Given the description of an element on the screen output the (x, y) to click on. 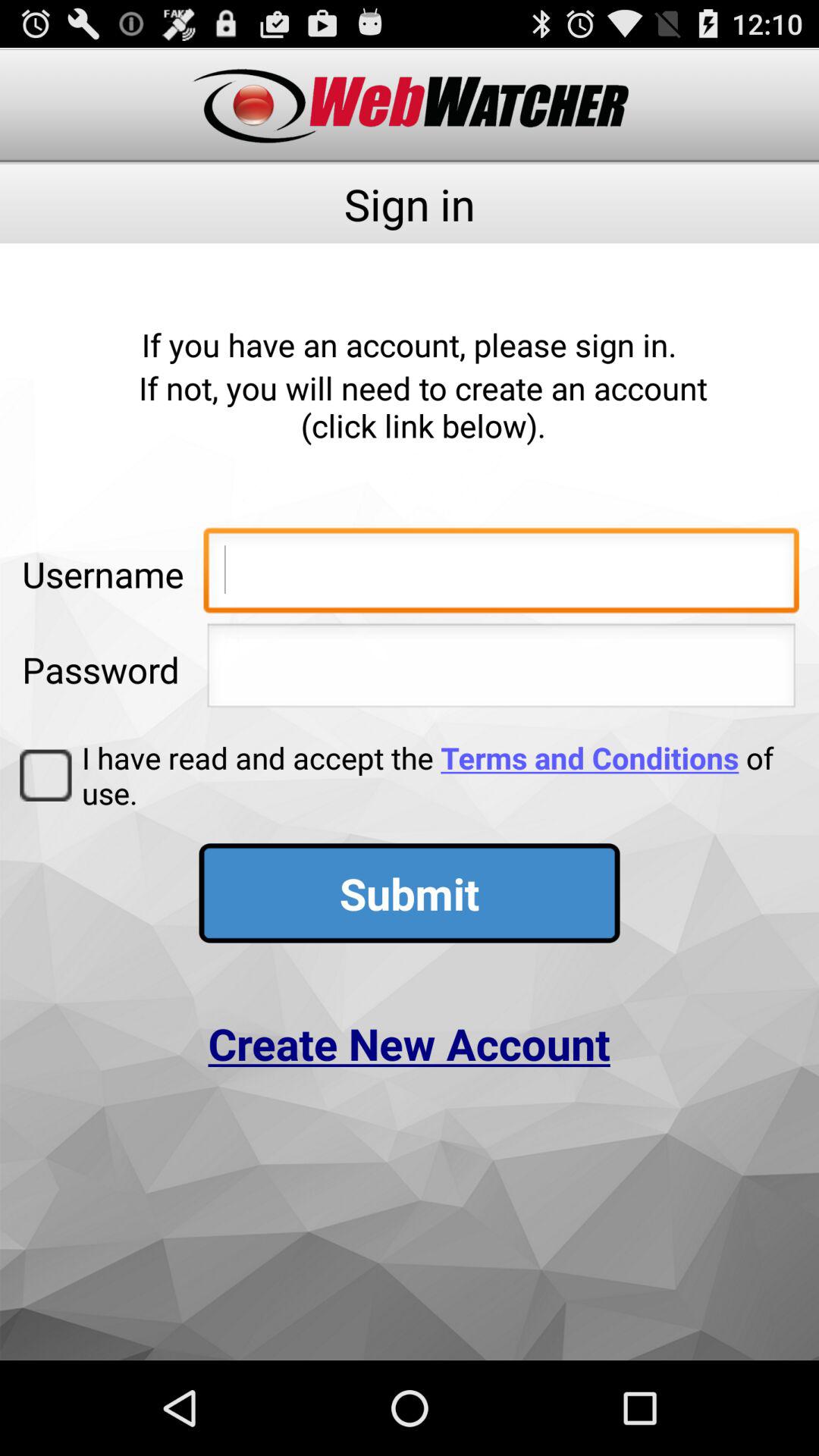
choose item below password app (45, 775)
